Given the description of an element on the screen output the (x, y) to click on. 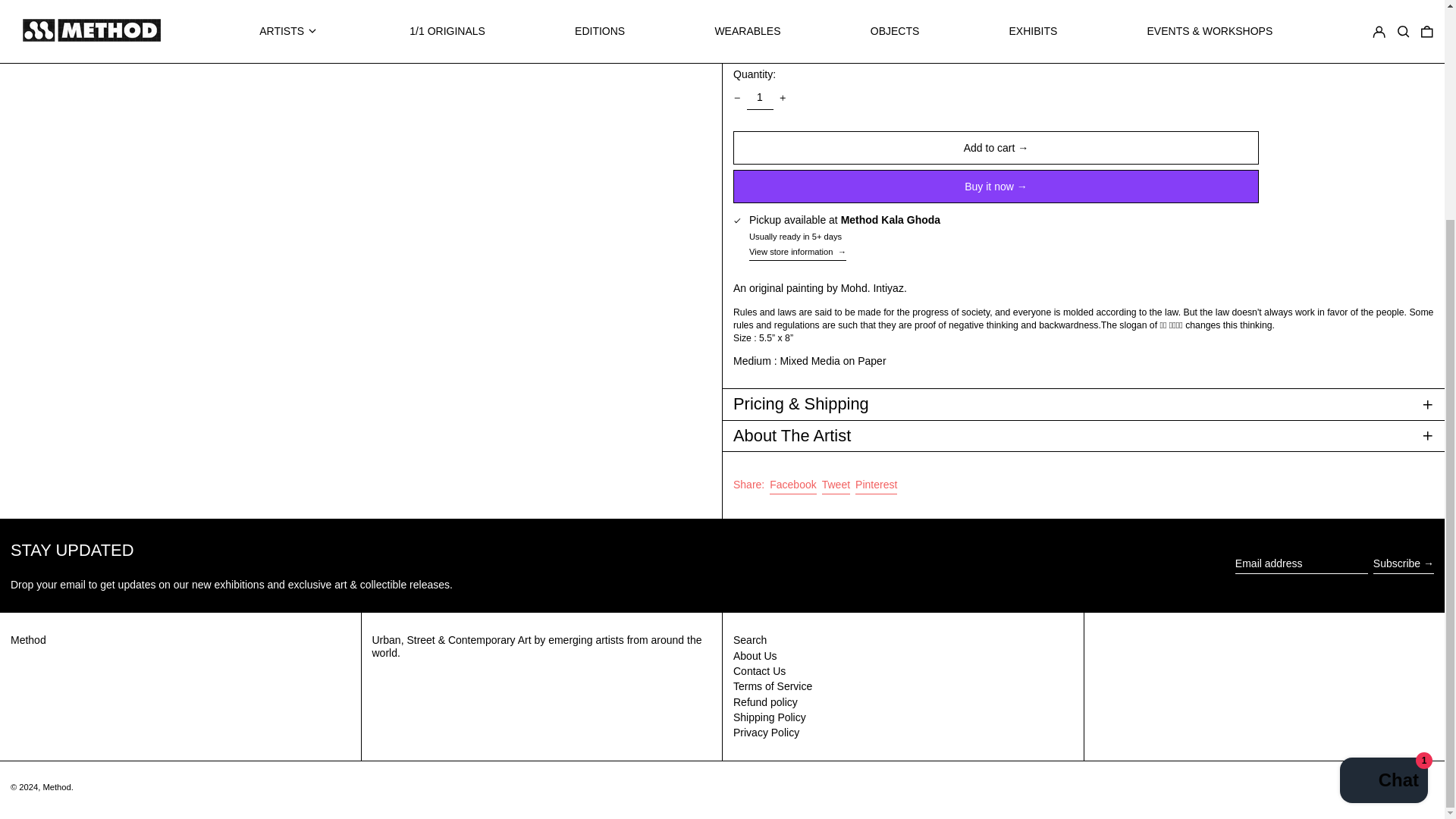
Shopify online store chat (1383, 490)
Page 9 (1083, 122)
